Given the description of an element on the screen output the (x, y) to click on. 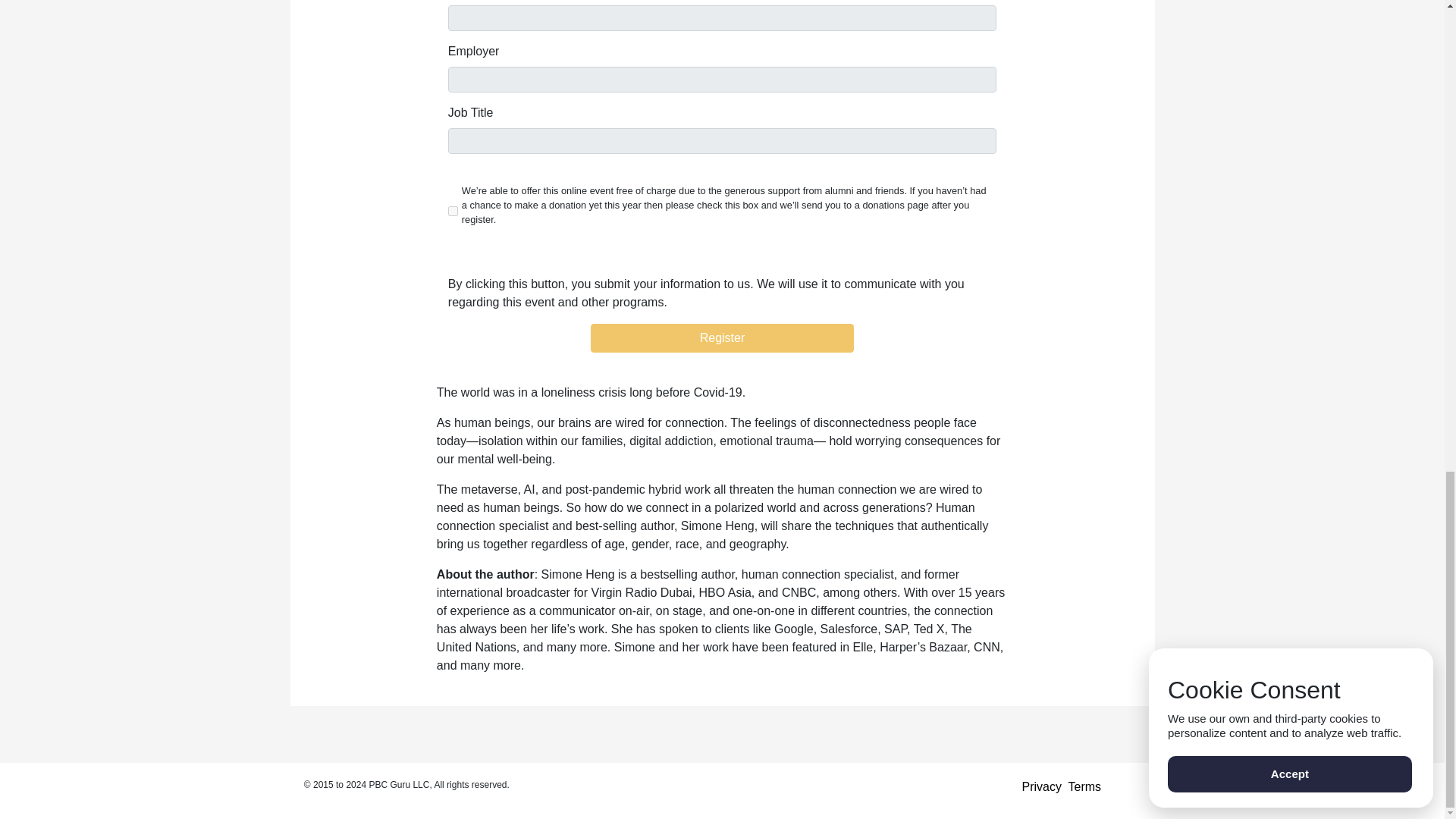
Register (722, 337)
1 (453, 211)
Privacy (1041, 786)
Register (722, 337)
Terms (1085, 786)
